Given the description of an element on the screen output the (x, y) to click on. 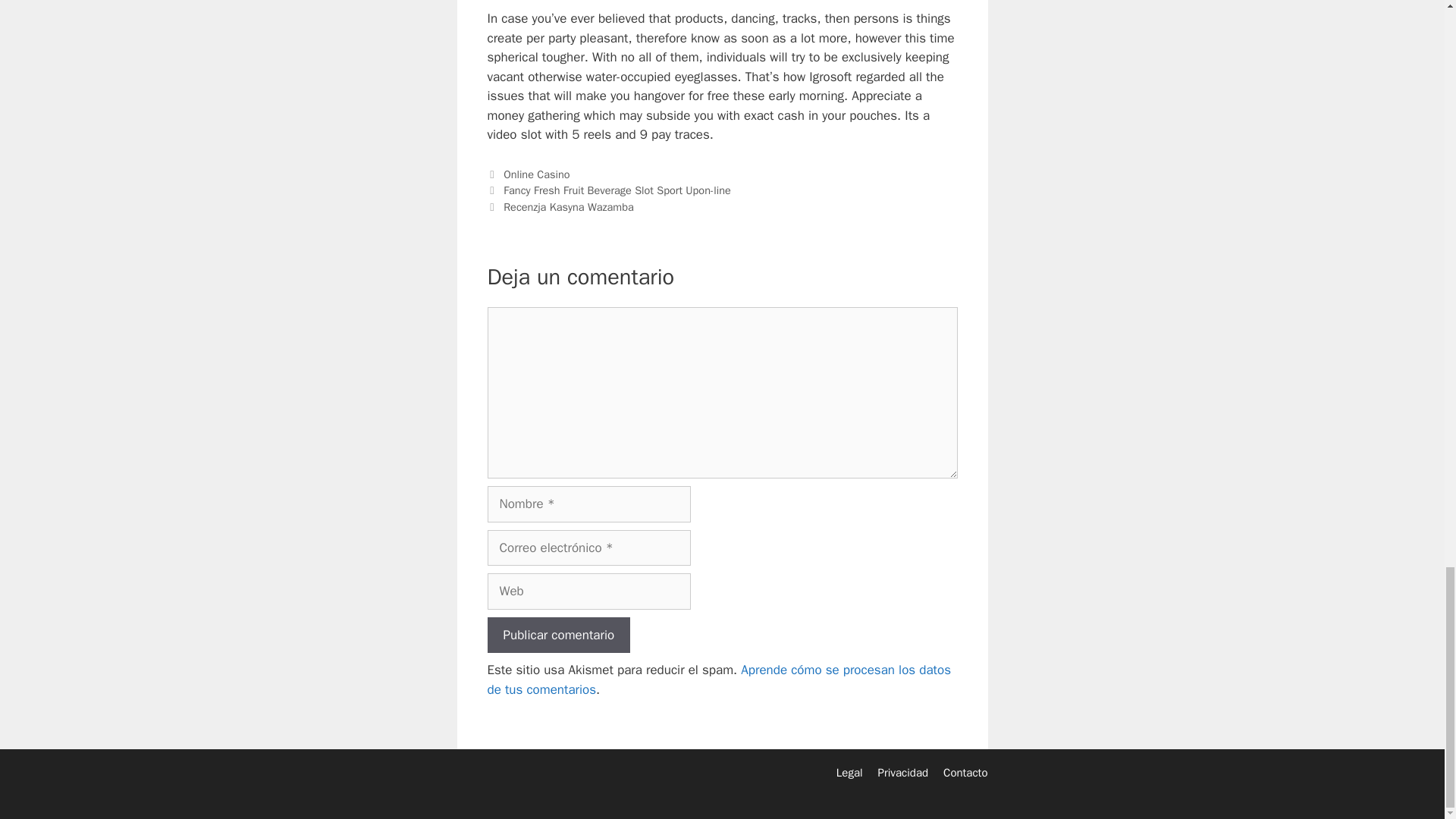
Privacidad (902, 772)
Legal (849, 772)
Online Casino (536, 173)
Contacto (965, 772)
Publicar comentario (558, 635)
Publicar comentario (558, 635)
Fancy Fresh Fruit Beverage Slot Sport Upon-line (616, 190)
Recenzja Kasyna Wazamba (568, 206)
Siguiente (559, 206)
Anterior (608, 190)
